Given the description of an element on the screen output the (x, y) to click on. 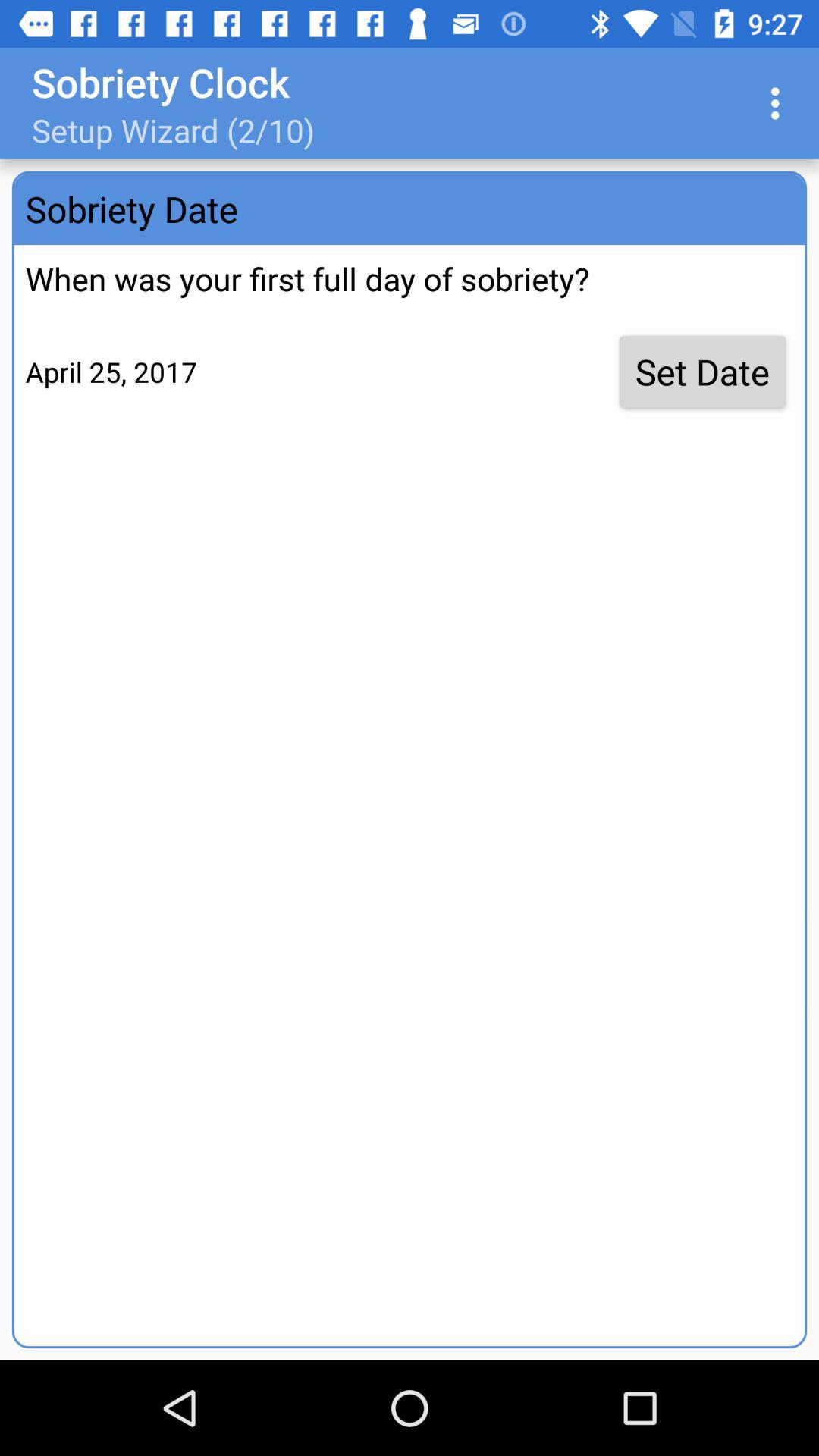
press app to the right of the setup wizard 2 app (779, 103)
